Given the description of an element on the screen output the (x, y) to click on. 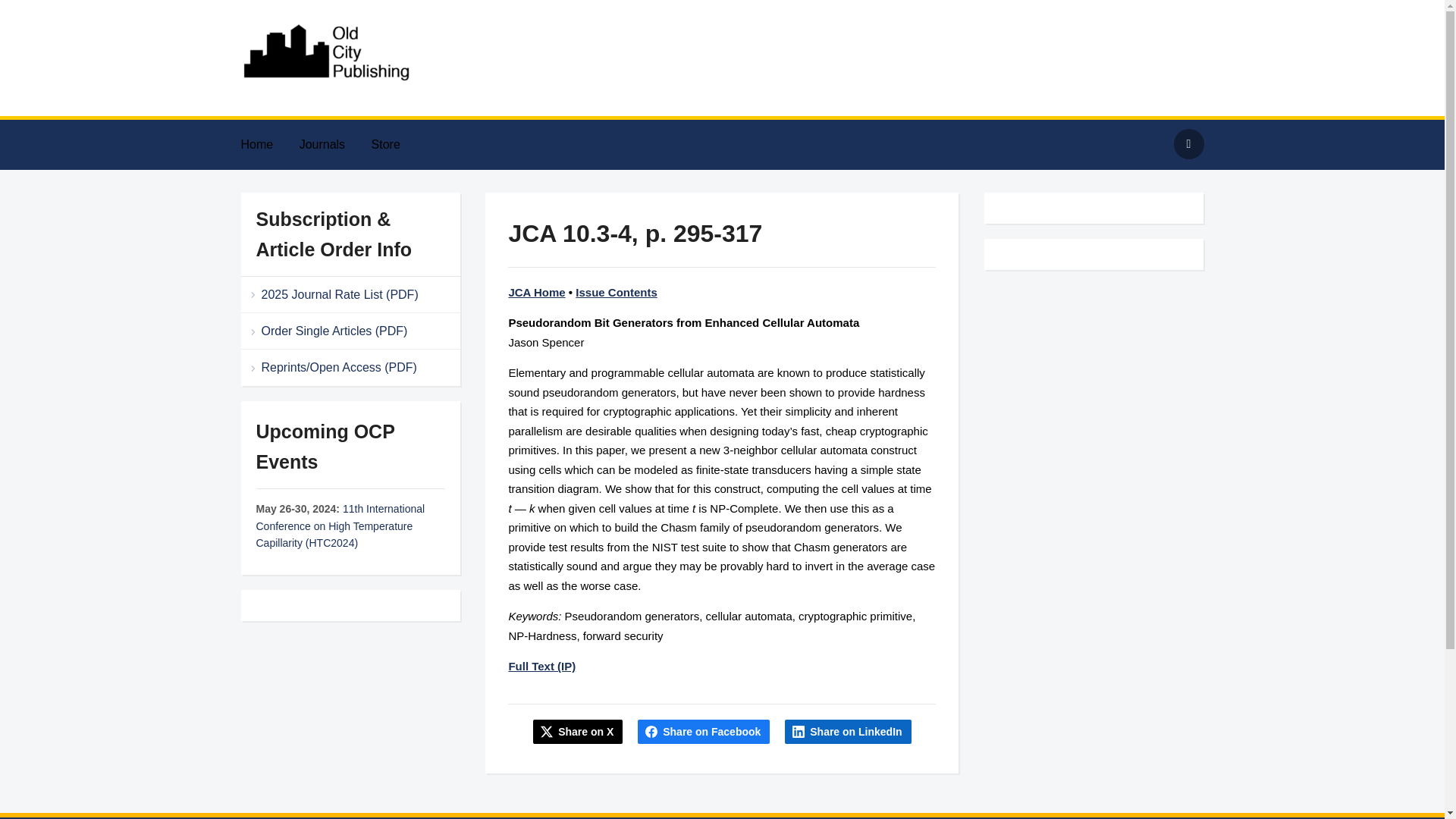
Share this on Facebook (703, 731)
Issue Contents (616, 291)
Share on X (577, 731)
Home (269, 144)
Share on LinkedIn (847, 731)
Store (397, 144)
Share this on X (577, 731)
JCA Home (536, 291)
Share on Facebook (703, 731)
Search (1188, 143)
